Given the description of an element on the screen output the (x, y) to click on. 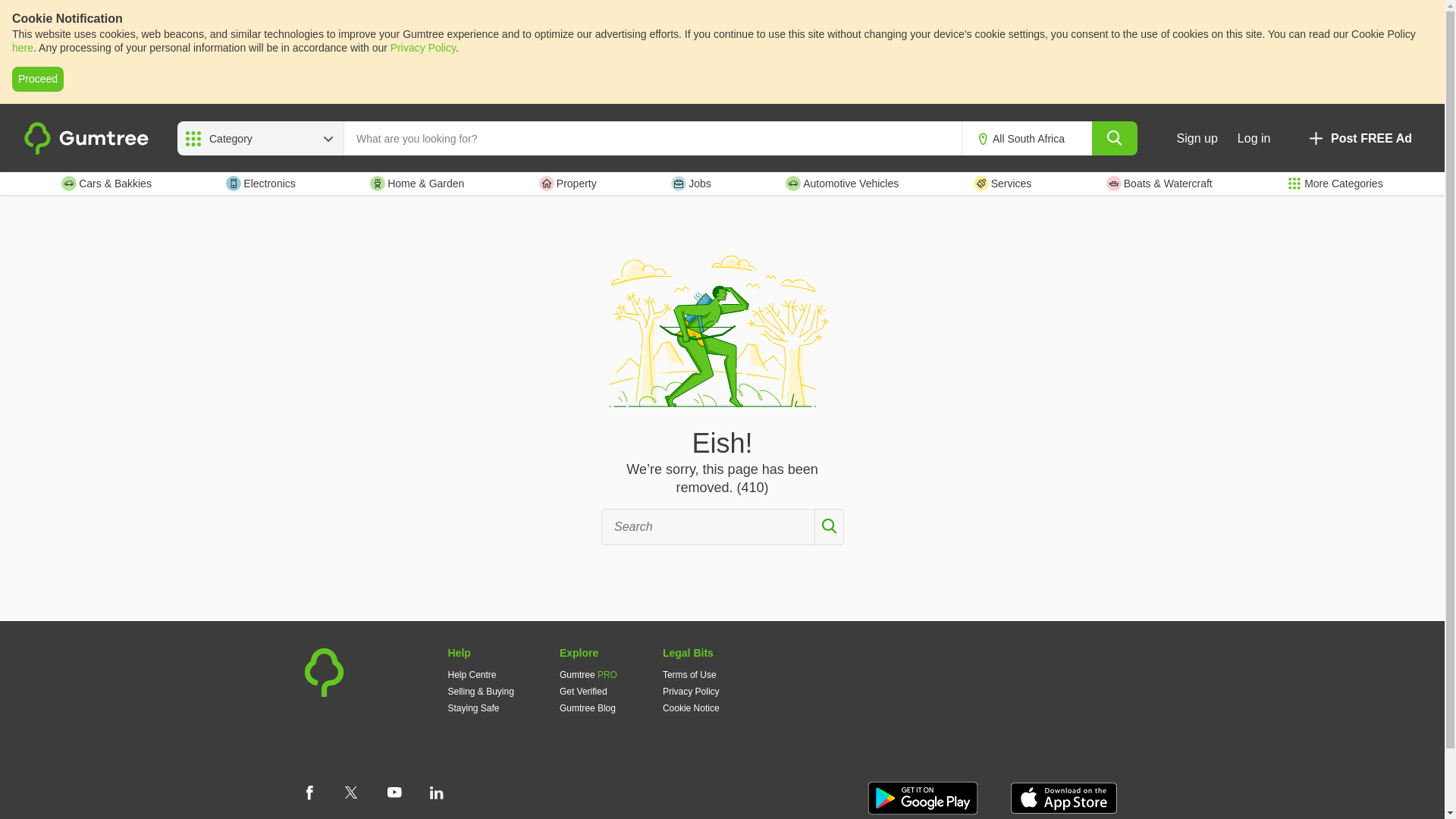
Property (567, 182)
Services (1003, 182)
here (22, 47)
Gumtree PRO (588, 674)
Privacy Policy (422, 47)
Post FREE Ad (1359, 138)
Electronics (260, 182)
Get Verified (583, 691)
Automotive Vehicles (842, 182)
All South Africa (1038, 138)
Gumtree Blog (587, 707)
Jobs (691, 182)
Proceed (37, 78)
